Given the description of an element on the screen output the (x, y) to click on. 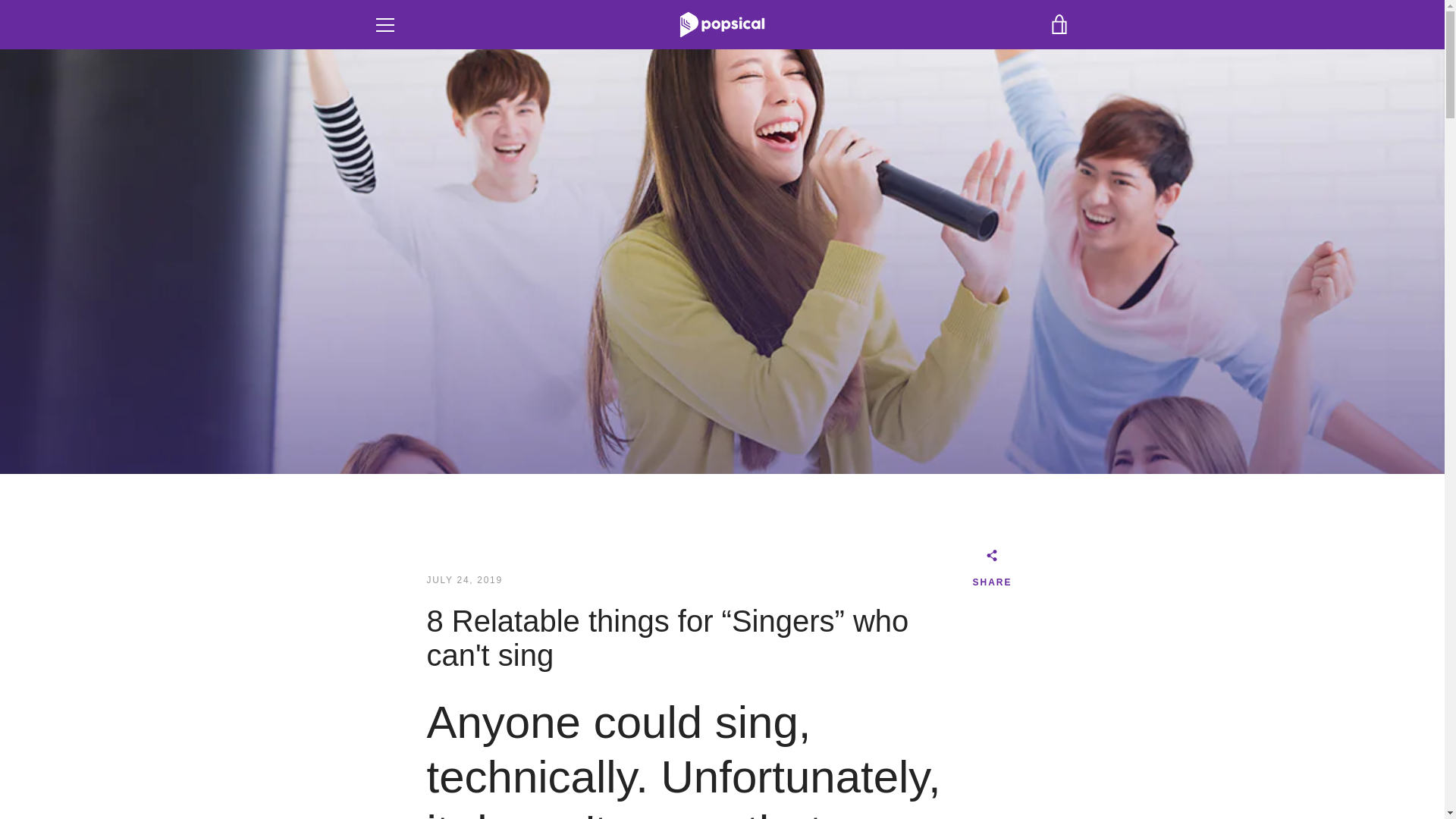
SHARE (991, 570)
VIEW CART (1059, 24)
MENU (384, 24)
